Given the description of an element on the screen output the (x, y) to click on. 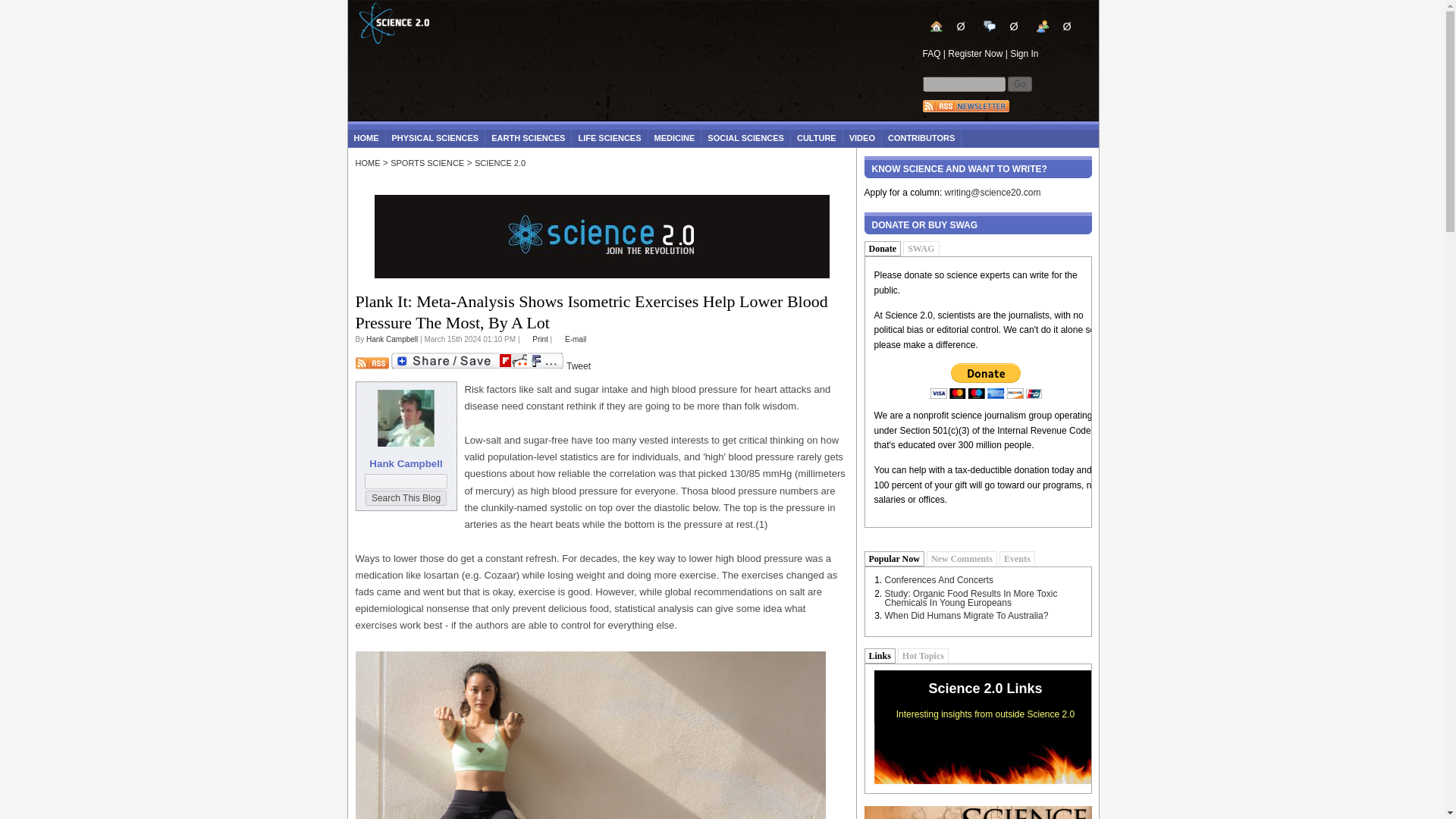
Enter the terms you wish to search for. (962, 83)
Register Now (975, 53)
Sign In (1024, 53)
View user profile. (391, 338)
Go (1019, 83)
Search This Blog (405, 498)
Sign in and see comments by people on your friends list... (1054, 26)
Go (1019, 83)
MEDICINE (674, 138)
PayPal - The safer, easier way to pay online! (986, 380)
EARTH SCIENCES (527, 138)
FAQ (930, 53)
PHYSICAL SCIENCES (434, 138)
HOME (365, 138)
